Given the description of an element on the screen output the (x, y) to click on. 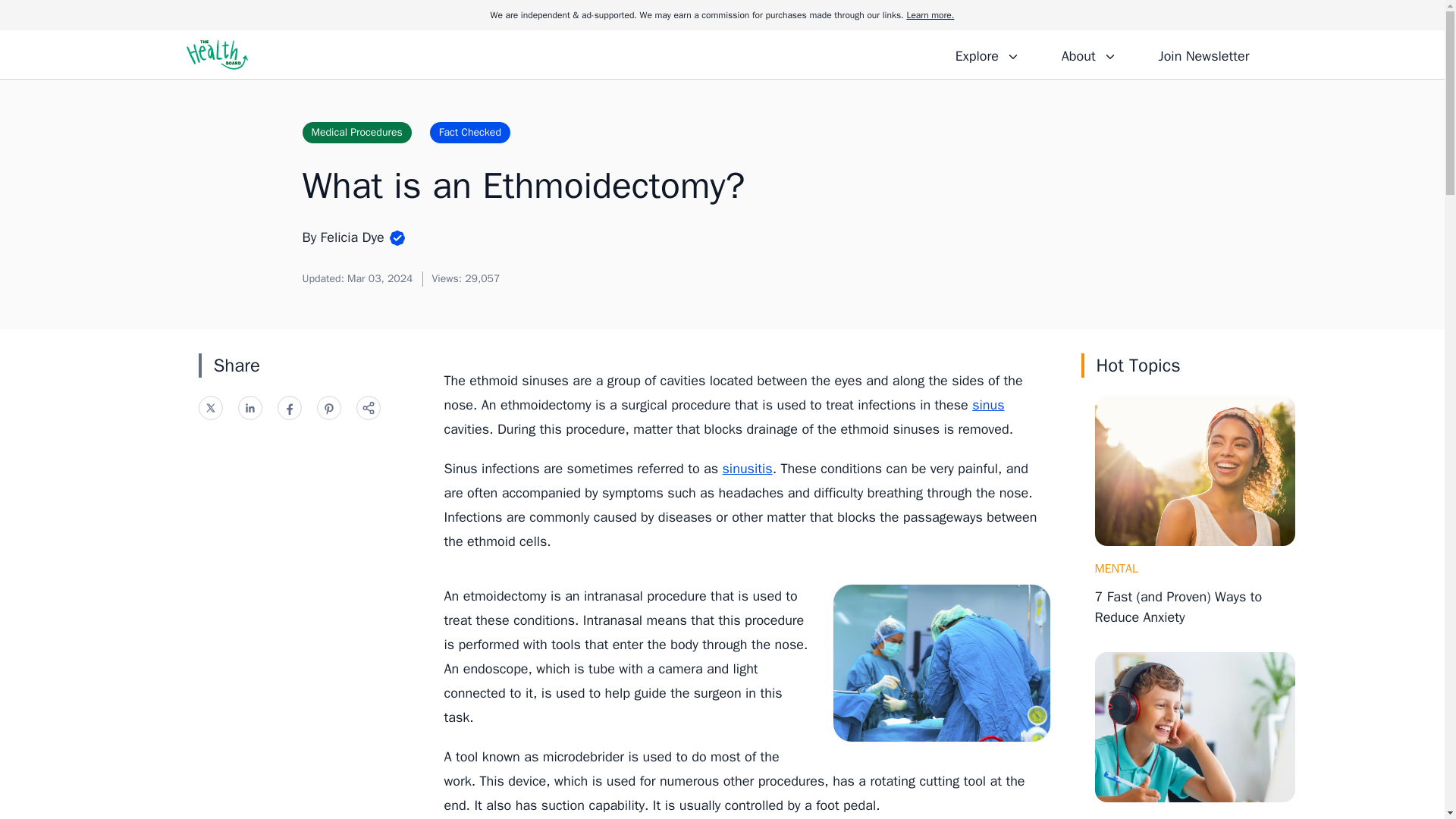
sinus (988, 404)
Fact Checked (470, 132)
Medical Procedures (355, 132)
About (1088, 54)
Explore (986, 54)
Learn more. (929, 15)
Join Newsletter (1202, 54)
sinusitis (747, 468)
